Given the description of an element on the screen output the (x, y) to click on. 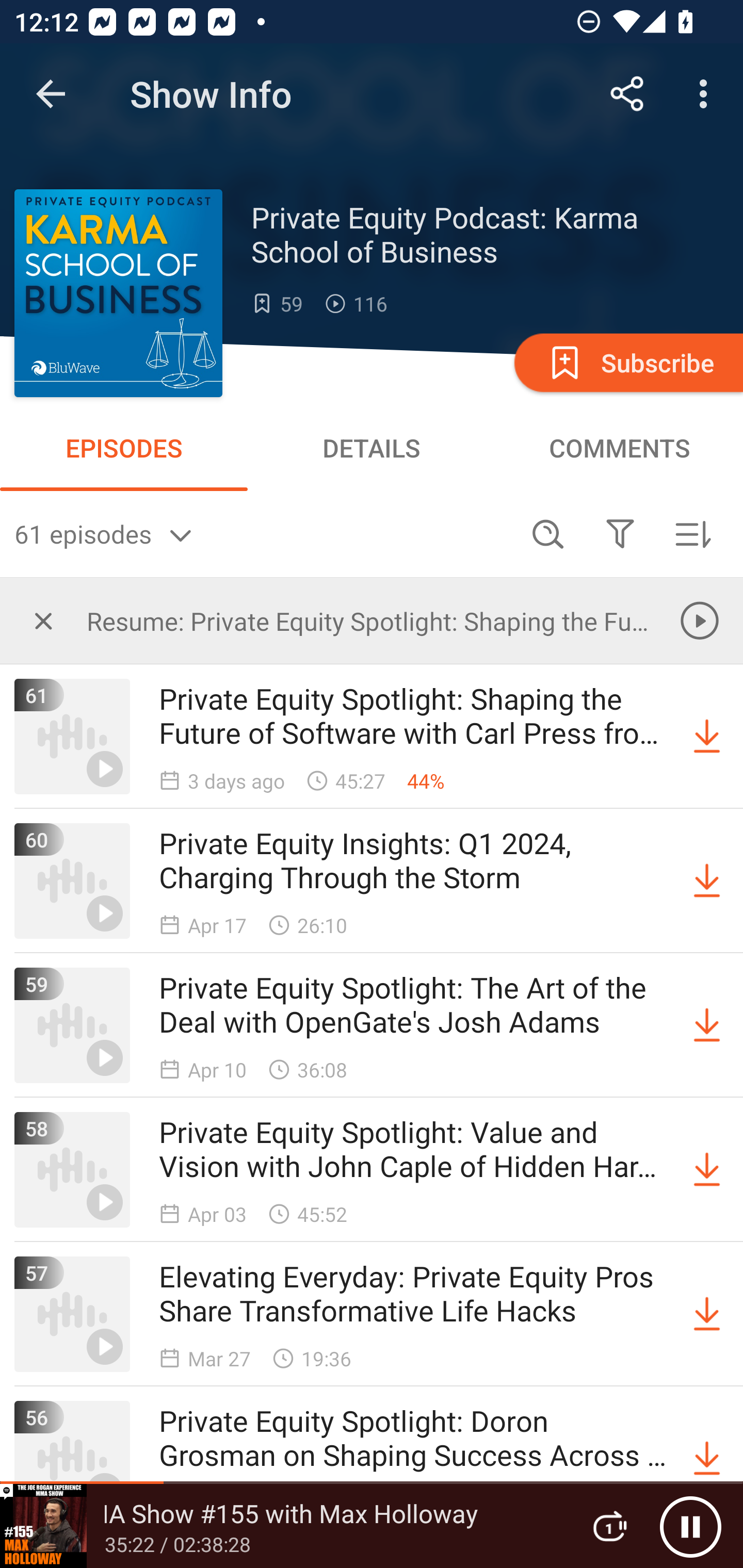
Navigate up (50, 93)
Share (626, 93)
More options (706, 93)
Subscribe (627, 361)
EPISODES (123, 447)
DETAILS (371, 447)
COMMENTS (619, 447)
61 episodes  (262, 533)
 Search (547, 533)
 (619, 533)
 Sorted by newest first (692, 533)
 (43, 620)
Download (706, 736)
Download (706, 881)
Download (706, 1025)
Download (706, 1169)
Download (706, 1313)
Download (706, 1458)
Pause (690, 1526)
